Given the description of an element on the screen output the (x, y) to click on. 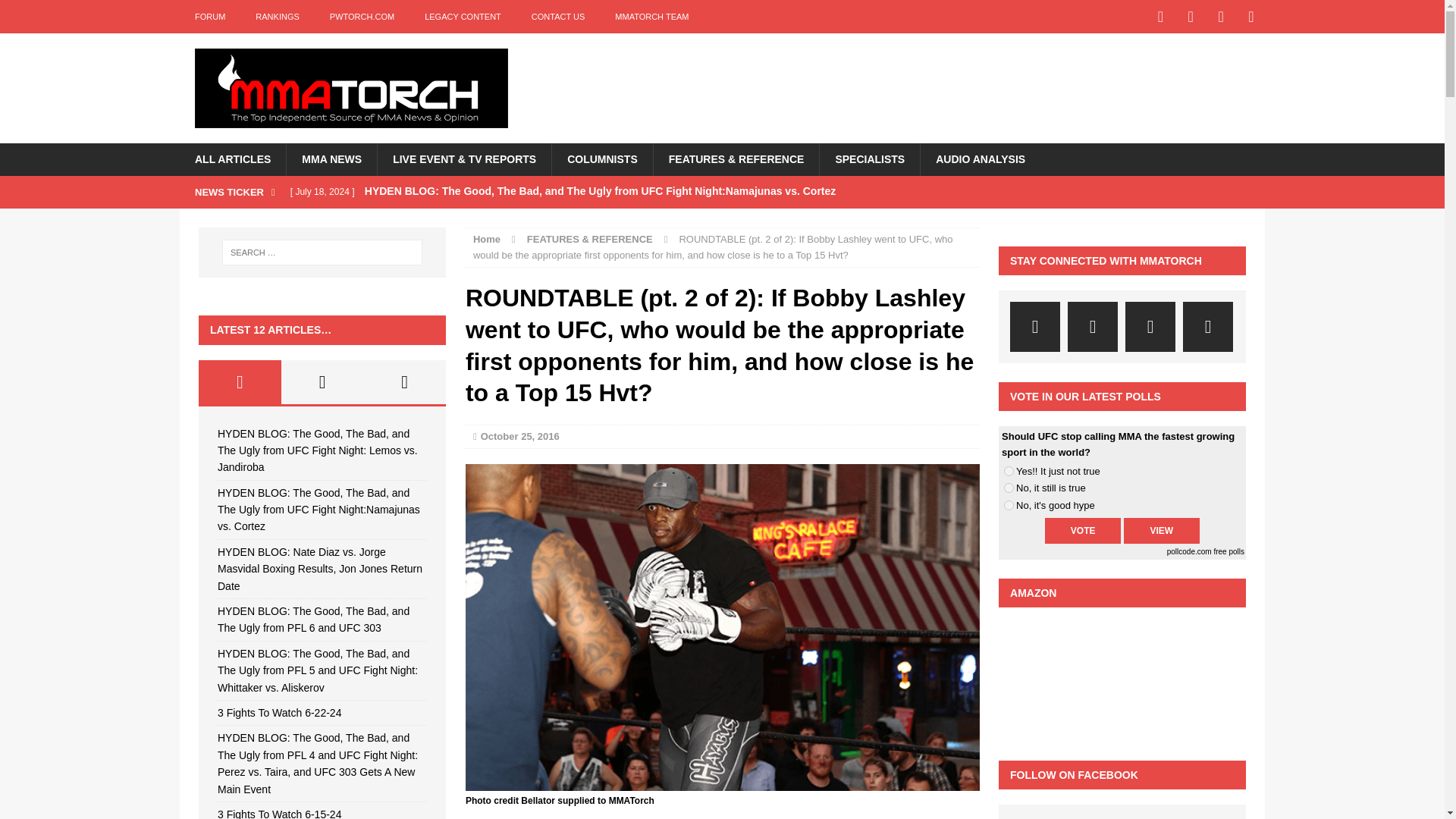
 Vote  (1083, 530)
2 (1008, 488)
MMATorch (350, 88)
 View  (1161, 530)
1 (1008, 470)
3 (1008, 505)
